Given the description of an element on the screen output the (x, y) to click on. 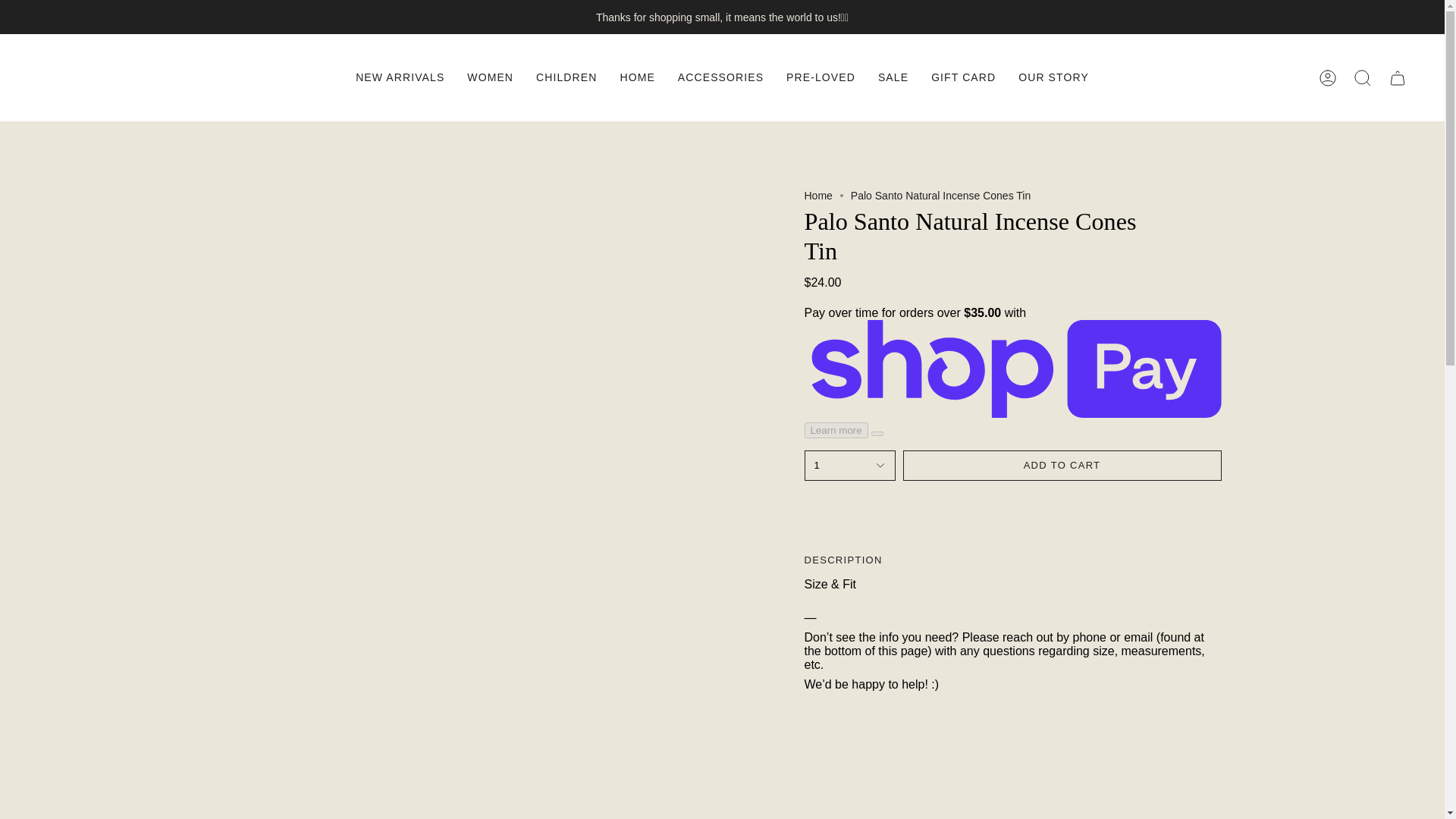
NEW ARRIVALS (399, 77)
CHILDREN (566, 77)
ACCESSORIES (720, 77)
